Given the description of an element on the screen output the (x, y) to click on. 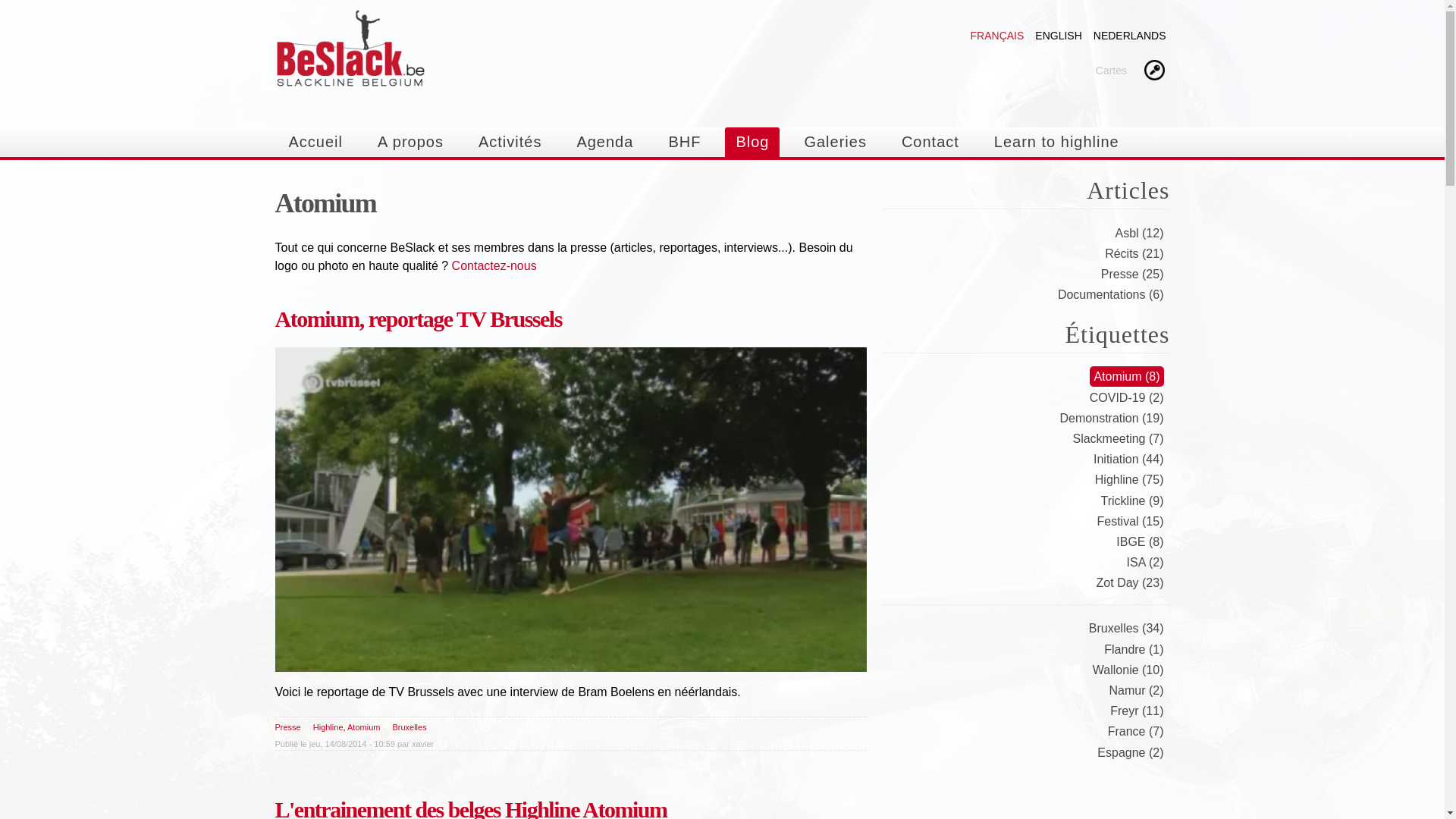
Blog Element type: text (751, 141)
ISA (2) Element type: text (1145, 561)
Presse (25) Element type: text (1132, 273)
Contactez-nous Element type: text (493, 265)
Wallonie (10) Element type: text (1128, 669)
Highline (75) Element type: text (1129, 479)
Bruxelles (34) Element type: text (1126, 627)
France (7) Element type: text (1135, 730)
Demonstration (19) Element type: text (1112, 417)
ENGLISH Element type: text (1058, 35)
Atomium (8) Element type: text (1126, 376)
Zot Day (23) Element type: text (1130, 582)
Freyr (11) Element type: text (1136, 710)
IBGE (8) Element type: text (1139, 541)
Flandre (1) Element type: text (1133, 649)
xavier Element type: text (422, 743)
Espagne (2) Element type: text (1130, 752)
Highline Element type: text (328, 726)
Atomium, reportage TV Brussels Element type: text (417, 318)
Galeries Element type: text (834, 141)
Asbl (12) Element type: text (1138, 232)
Learn to highline Element type: text (1056, 141)
NEDERLANDS Element type: text (1129, 35)
A propos Element type: text (410, 141)
Atomium Element type: text (363, 726)
Accueil Element type: text (314, 141)
Initiation (44) Element type: text (1128, 458)
Agenda Element type: text (604, 141)
Bruxelles Element type: text (409, 726)
Presse Element type: text (287, 726)
Slackmeeting (7) Element type: text (1117, 438)
Documentations (6) Element type: text (1110, 294)
Trickline (9) Element type: text (1132, 500)
Contact Element type: text (930, 141)
Cartes Element type: text (1110, 69)
BHF Element type: text (684, 141)
COVID-19 (2) Element type: text (1126, 397)
Connexion Element type: hover (1153, 70)
Festival (15) Element type: text (1129, 520)
Namur (2) Element type: text (1135, 690)
Aller au contenu principal Element type: text (688, 1)
